Given the description of an element on the screen output the (x, y) to click on. 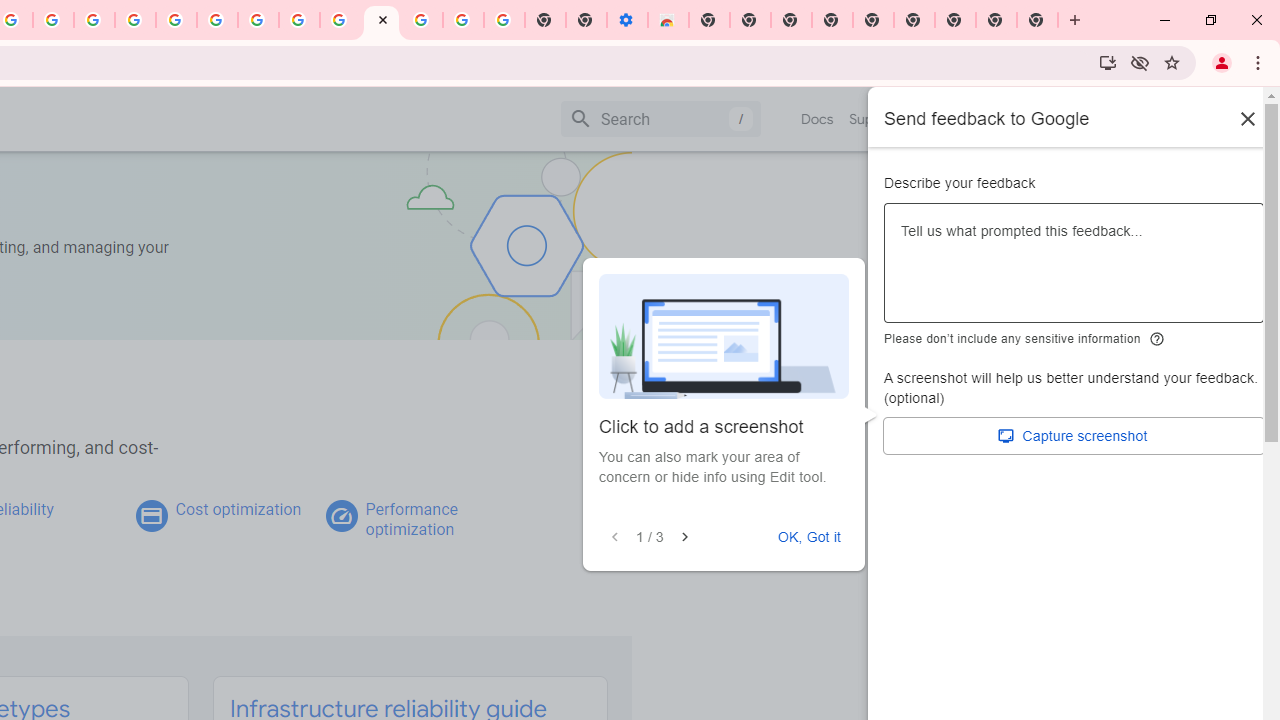
Settings - Accessibility (626, 20)
Create your Google Account (53, 20)
Ad Settings (135, 20)
Google Account Help (217, 20)
New Tab (1037, 20)
Describe your feedback (1074, 271)
Previous (614, 537)
